Given the description of an element on the screen output the (x, y) to click on. 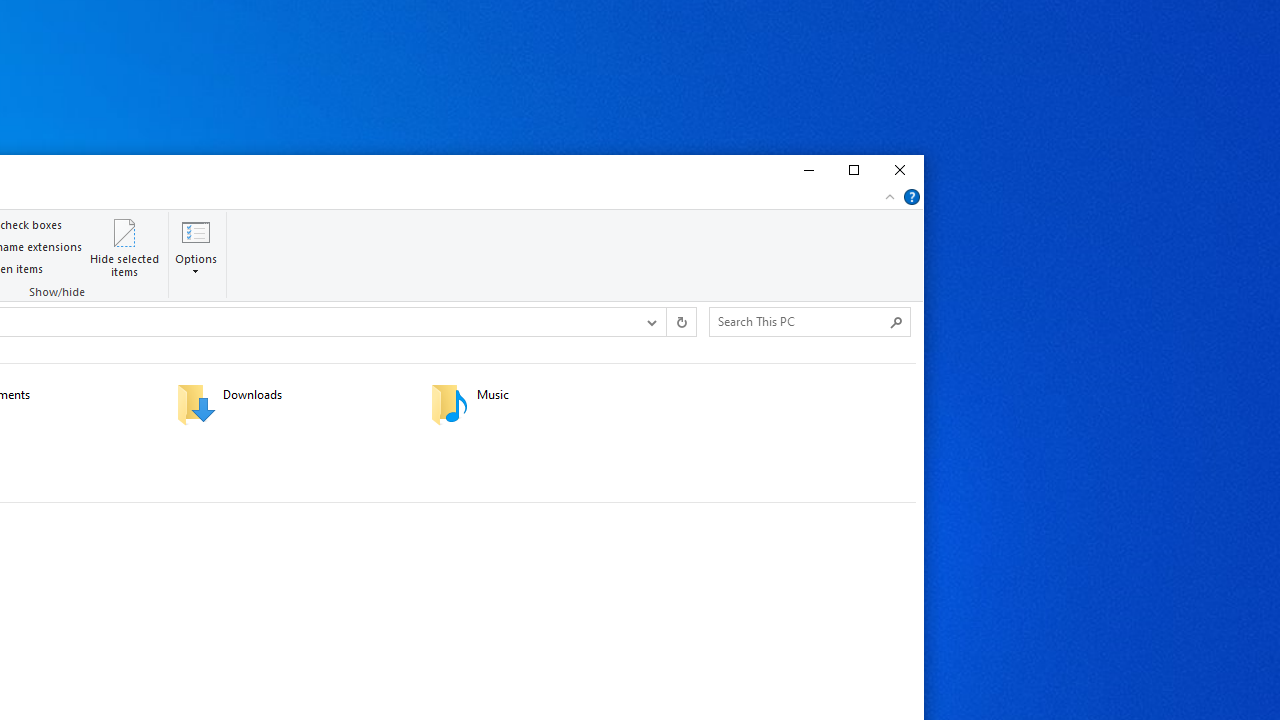
Search Box (799, 321)
Music (544, 403)
Refresh "This PC" (F5) (680, 321)
Downloads (291, 403)
Maximize (853, 170)
Search (896, 321)
Options (196, 264)
Hide selected items (125, 246)
Minimize the Ribbon (890, 196)
Previous Locations (650, 321)
Minimize (806, 170)
Help (911, 196)
Name (569, 395)
Address band toolbar (666, 321)
